Given the description of an element on the screen output the (x, y) to click on. 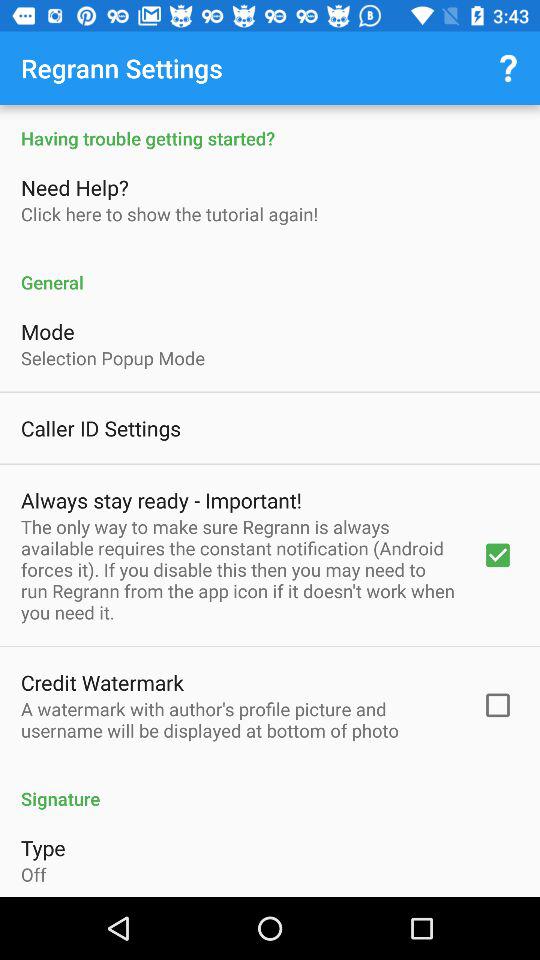
tap the icon above the a watermark with item (102, 682)
